Given the description of an element on the screen output the (x, y) to click on. 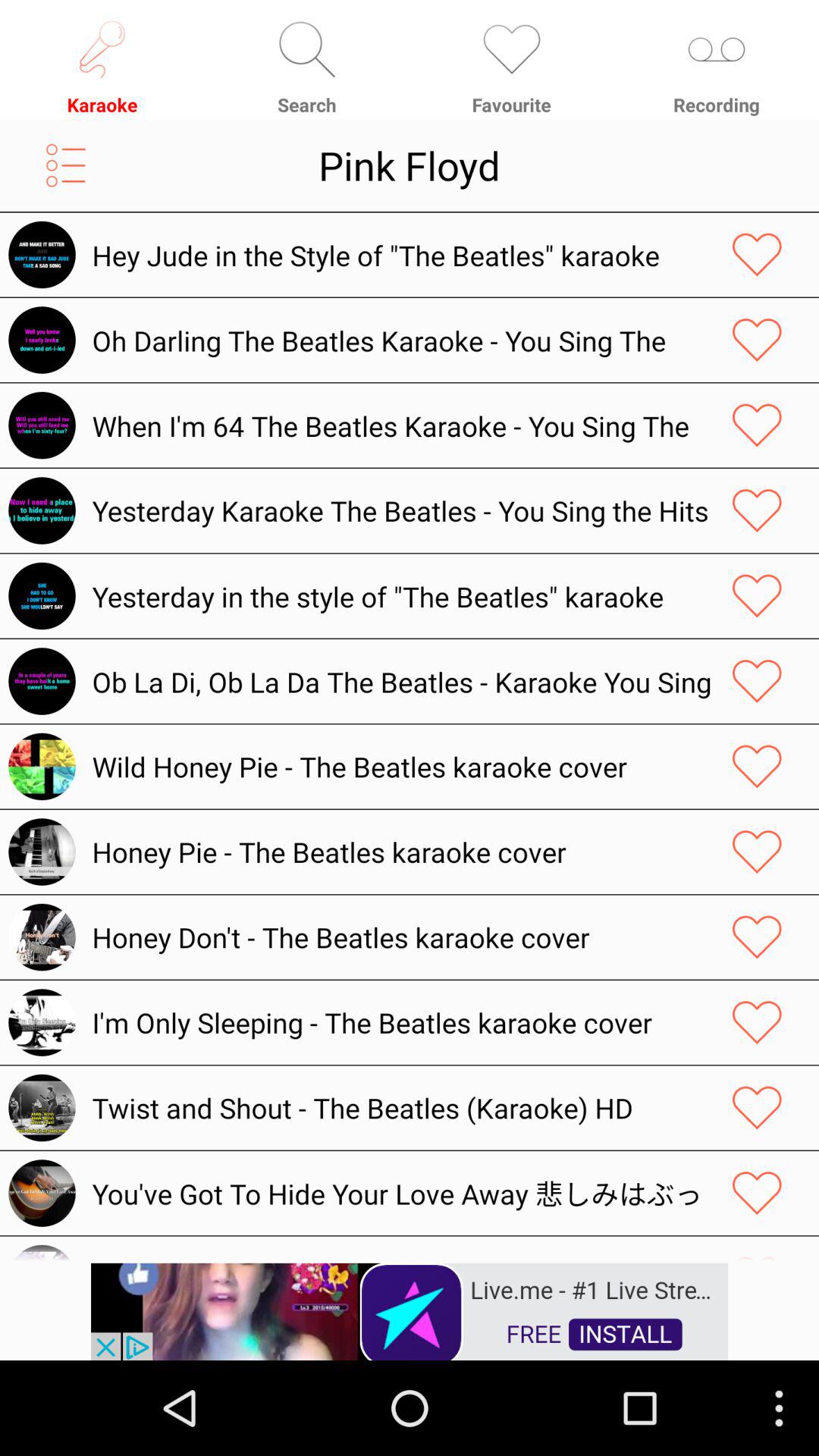
love track (756, 510)
